Given the description of an element on the screen output the (x, y) to click on. 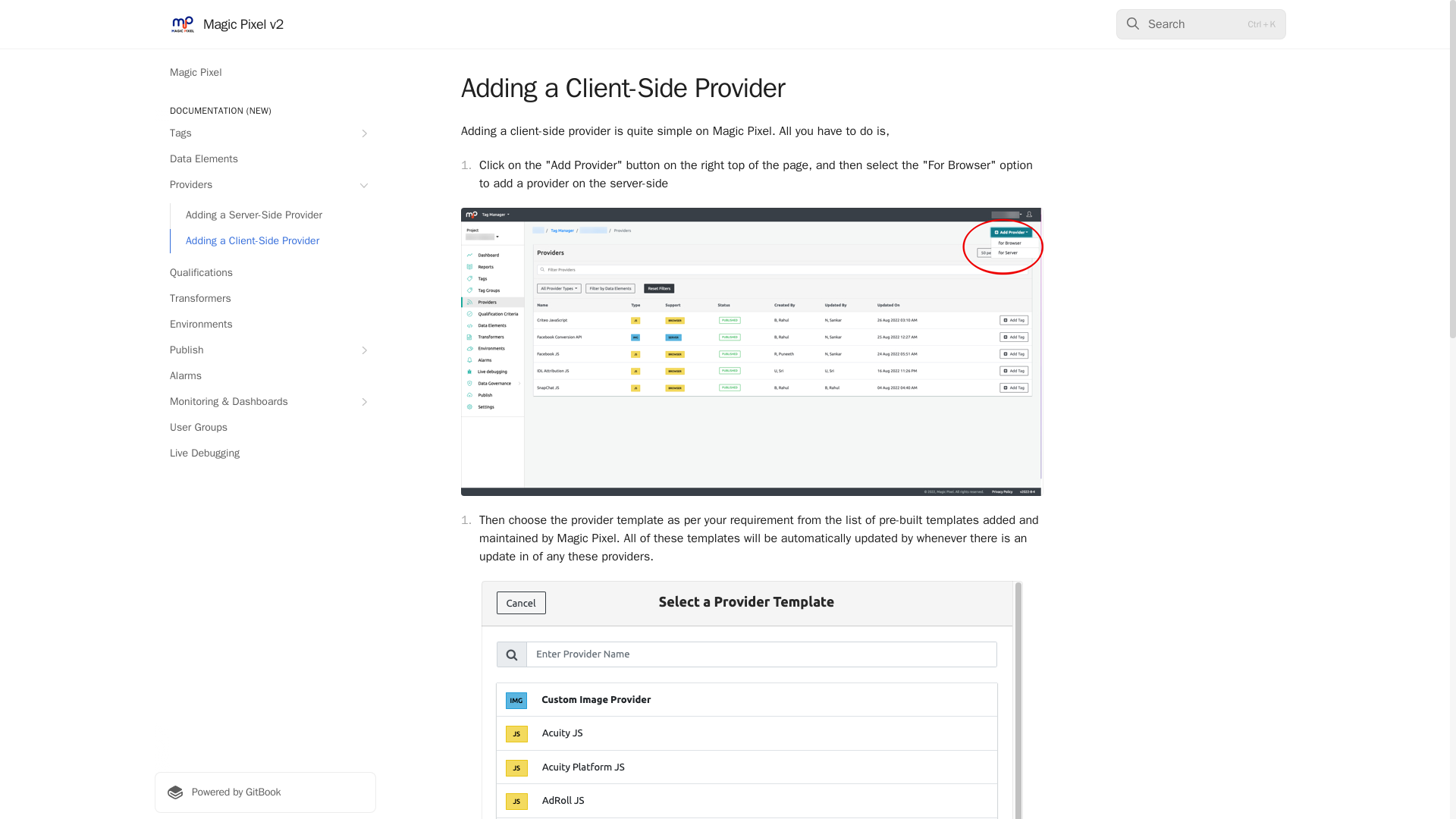
Magic Pixel (264, 72)
Alarms (264, 375)
Magic Pixel v2 (226, 24)
Providers (264, 184)
Adding a Server-Side Provider (272, 215)
User Groups (264, 427)
Transformers (264, 298)
Adding a Client-Side Provider (272, 241)
Tags (264, 133)
Environments (264, 324)
